Given the description of an element on the screen output the (x, y) to click on. 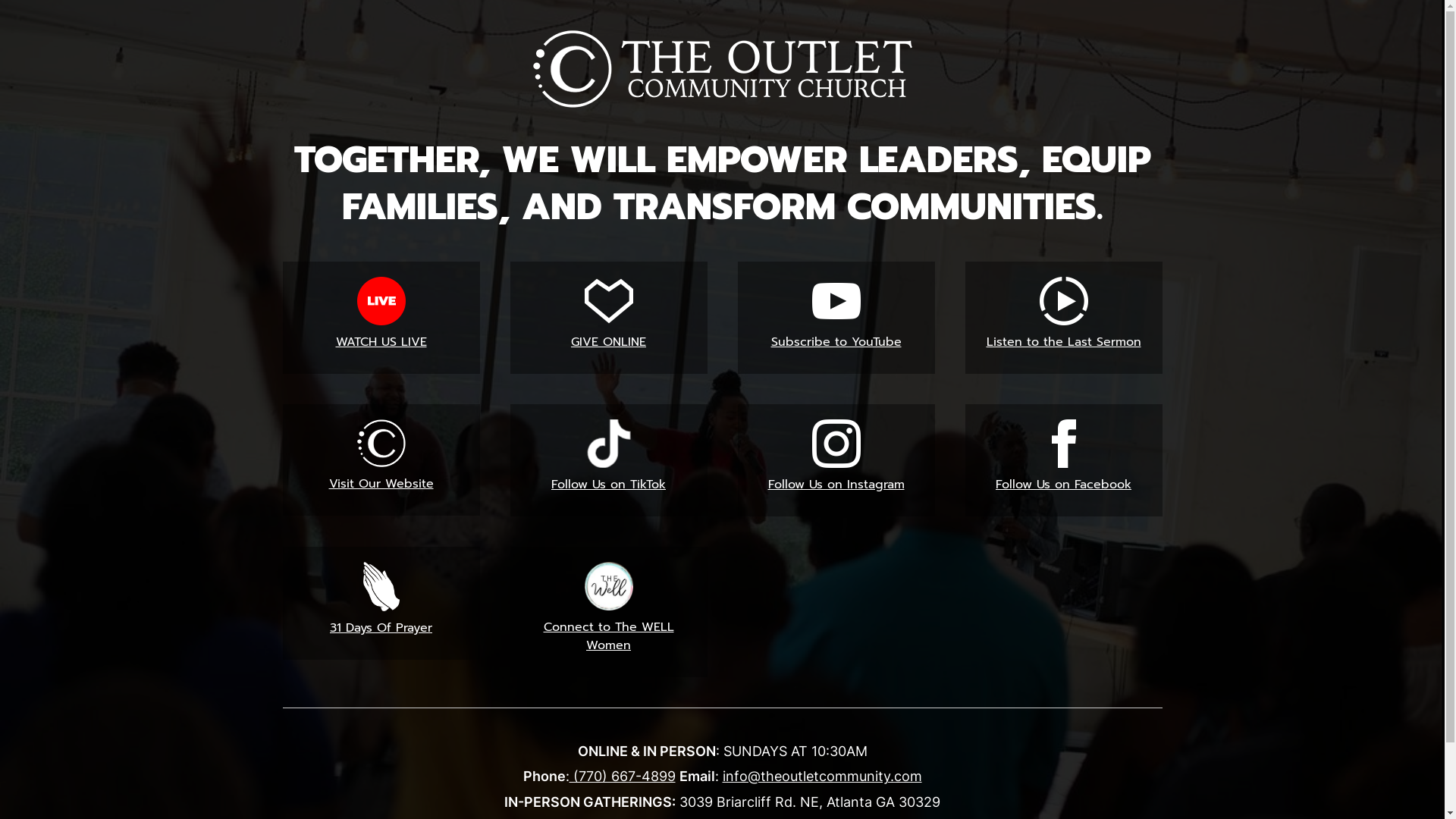
Subscribe to YouTube Element type: text (835, 317)
info@theoutletcommunity.com Element type: text (821, 776)
Follow Us on Instagram Element type: text (835, 460)
Follow Us on TikTok Element type: text (607, 460)
Visit Our Website Element type: text (380, 459)
white-logo Element type: hover (721, 68)
31 Days Of Prayer Element type: text (380, 602)
WATCH US LIVE Element type: text (380, 317)
(770) 667-4899 Element type: text (621, 776)
Listen to the Last Sermon Element type: text (1062, 317)
Follow Us on Facebook Element type: text (1062, 460)
Connect to The WELL Women Element type: text (607, 611)
GIVE ONLINE Element type: text (607, 317)
